Given the description of an element on the screen output the (x, y) to click on. 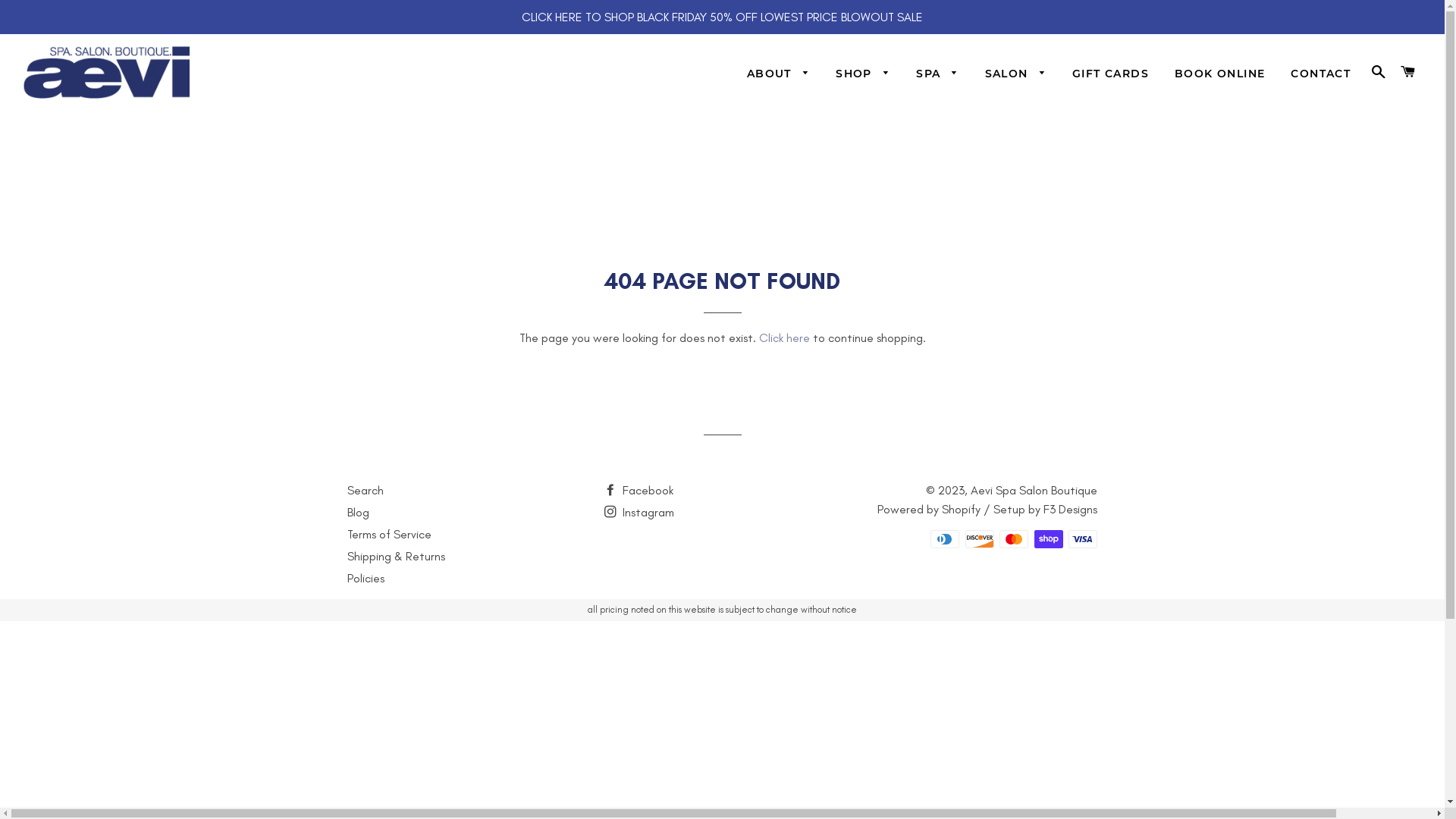
Search Element type: text (365, 490)
ABOUT Element type: text (778, 74)
SALON Element type: text (1015, 74)
CONTACT Element type: text (1320, 74)
CART Element type: text (1408, 71)
SEARCH Element type: text (1378, 71)
Powered by Shopify Element type: text (928, 509)
Instagram Element type: text (639, 512)
Facebook Element type: text (638, 490)
Terms of Service Element type: text (389, 534)
Policies Element type: text (365, 578)
Aevi Spa Salon Boutique Element type: text (1033, 490)
F3 Designs Element type: text (1070, 509)
BOOK ONLINE Element type: text (1219, 74)
Blog Element type: text (358, 512)
GIFT CARDS Element type: text (1110, 74)
Shipping & Returns Element type: text (396, 556)
Click here Element type: text (783, 337)
SPA Element type: text (937, 74)
SHOP Element type: text (862, 74)
